Given the description of an element on the screen output the (x, y) to click on. 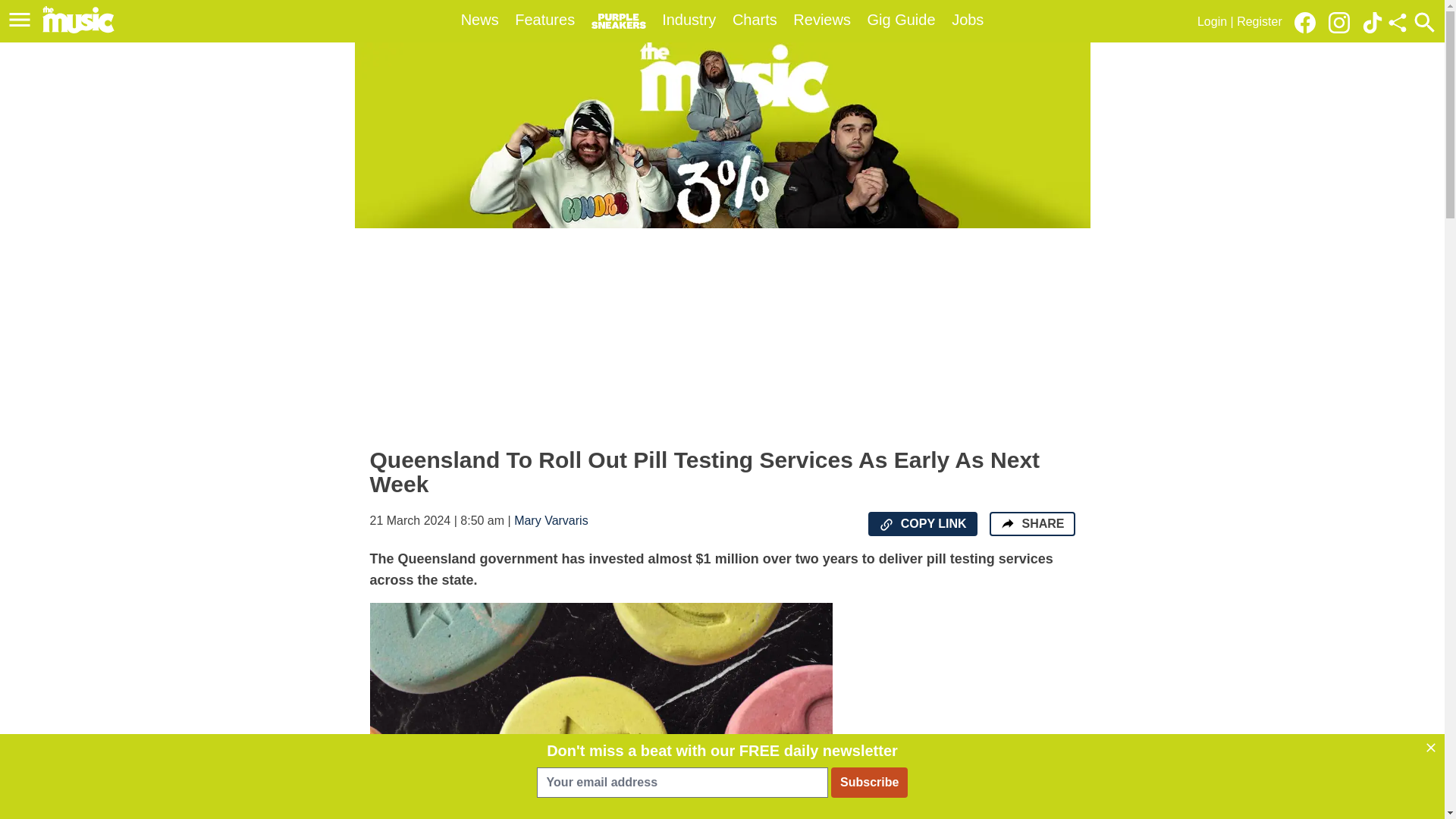
Link to our TikTok (1372, 21)
Charts (754, 19)
Share the page (1007, 522)
Share this page (1397, 22)
Copy the page URL (886, 524)
Login (1211, 21)
News (480, 19)
Copy the page URL COPY LINK (921, 523)
Open the site search menu (1424, 22)
Industry (689, 19)
